Given the description of an element on the screen output the (x, y) to click on. 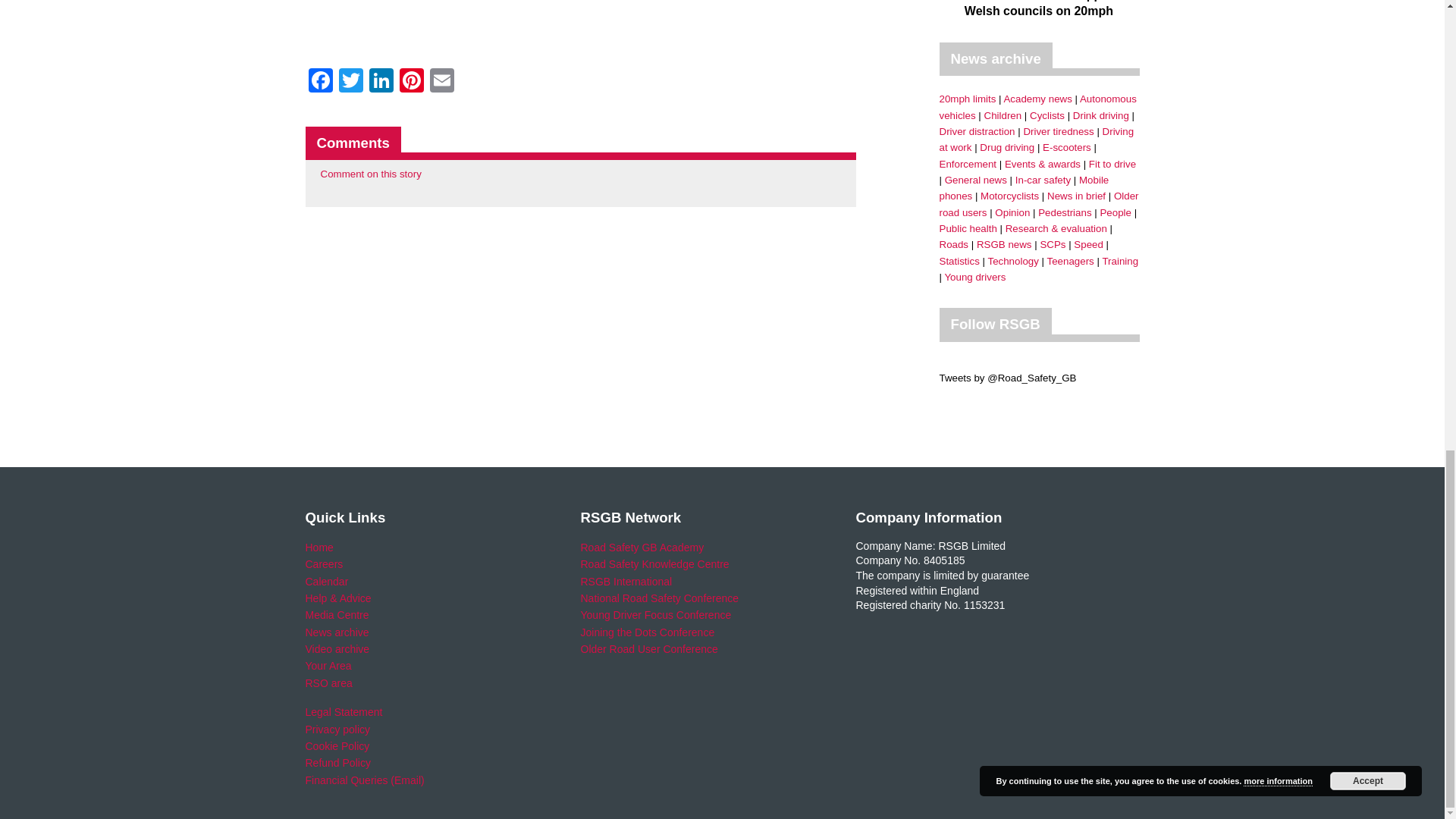
Email (441, 81)
Twitter (349, 81)
LinkedIn (380, 81)
Pinterest (411, 81)
Facebook (319, 81)
